Given the description of an element on the screen output the (x, y) to click on. 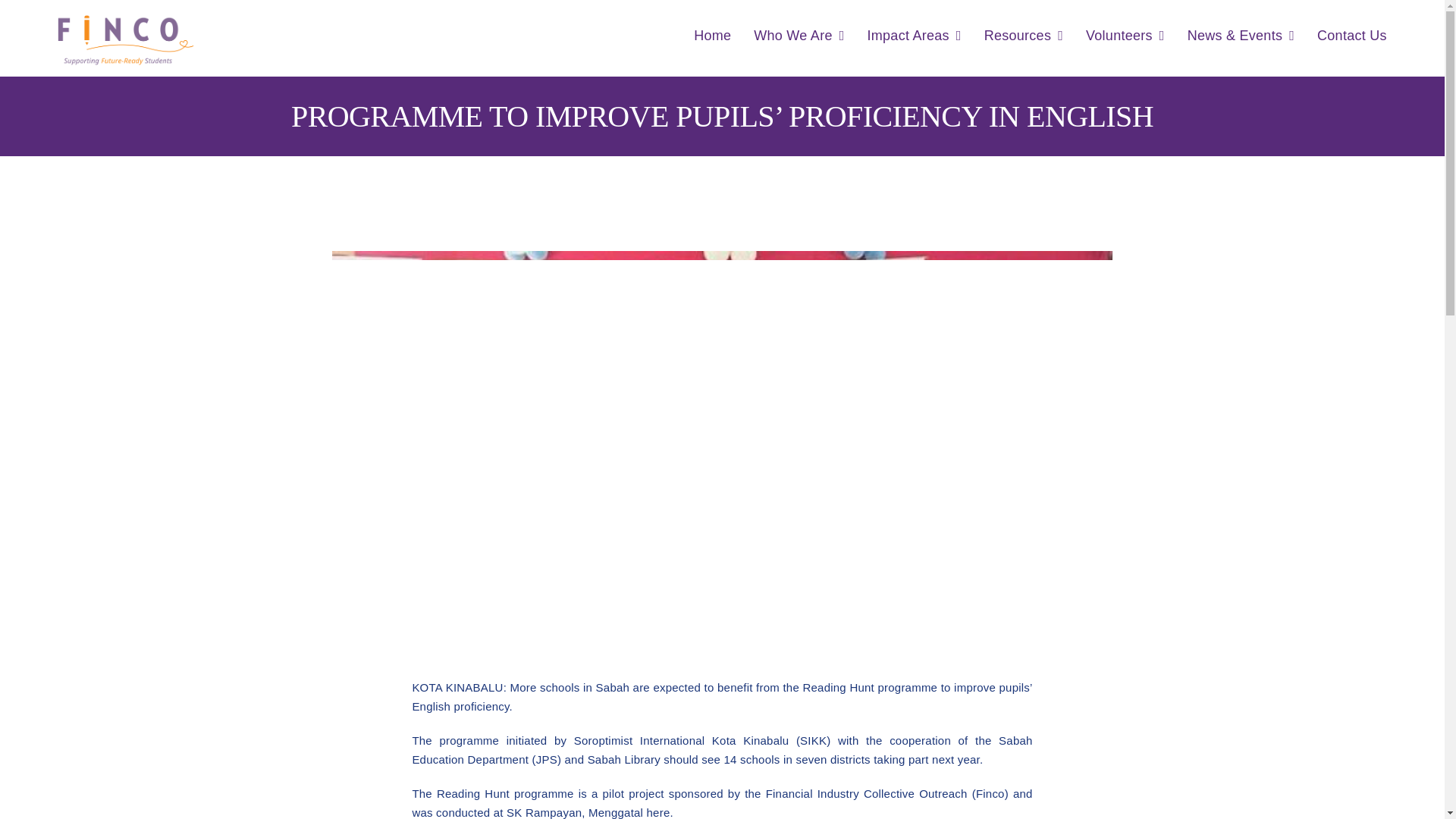
Who We Are (799, 36)
Impact Areas (913, 36)
Resources (1023, 36)
Contact Us (1352, 36)
Volunteers (1125, 36)
Home (712, 36)
